Given the description of an element on the screen output the (x, y) to click on. 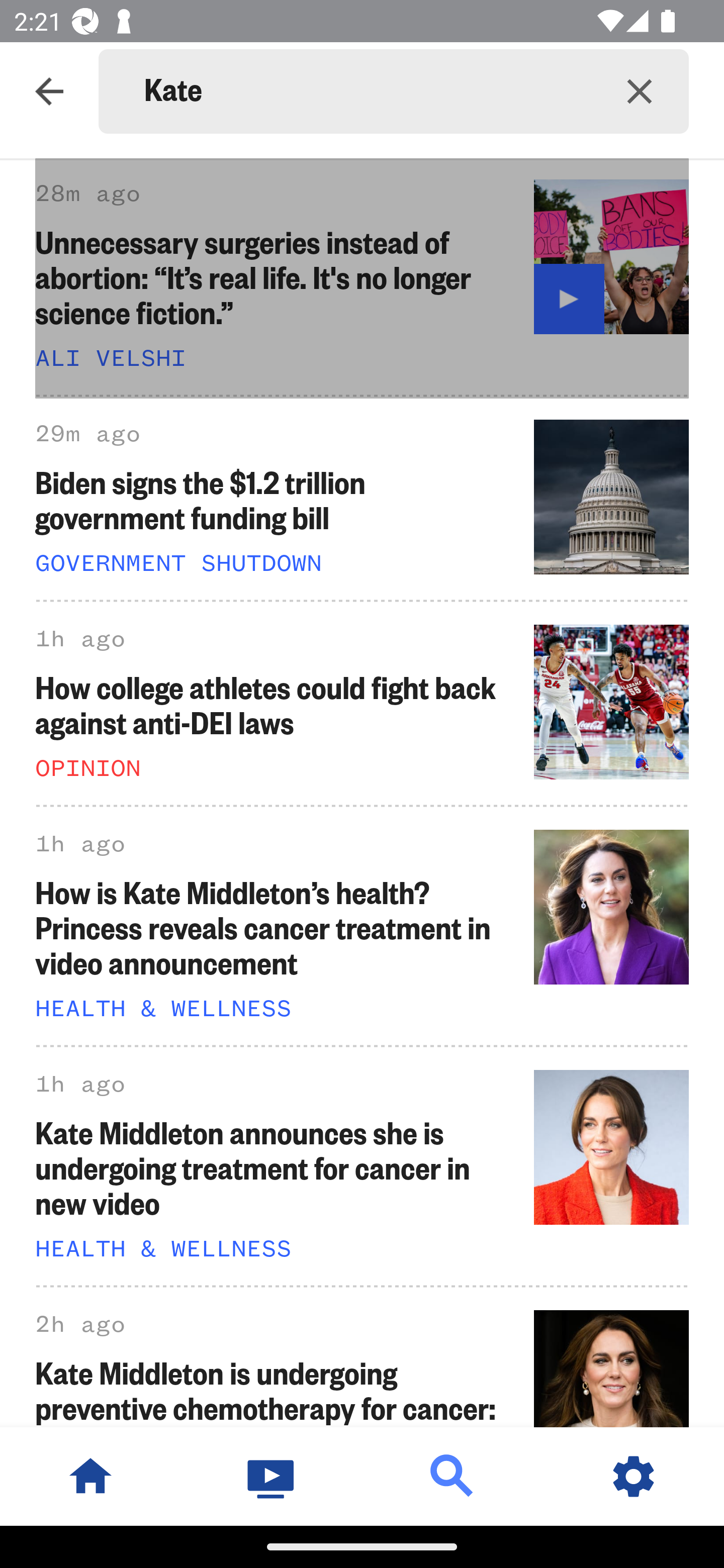
Navigate up (49, 91)
Clear query (639, 90)
Kate (367, 91)
NBC News Home (90, 1475)
Watch (271, 1475)
Settings (633, 1475)
